Given the description of an element on the screen output the (x, y) to click on. 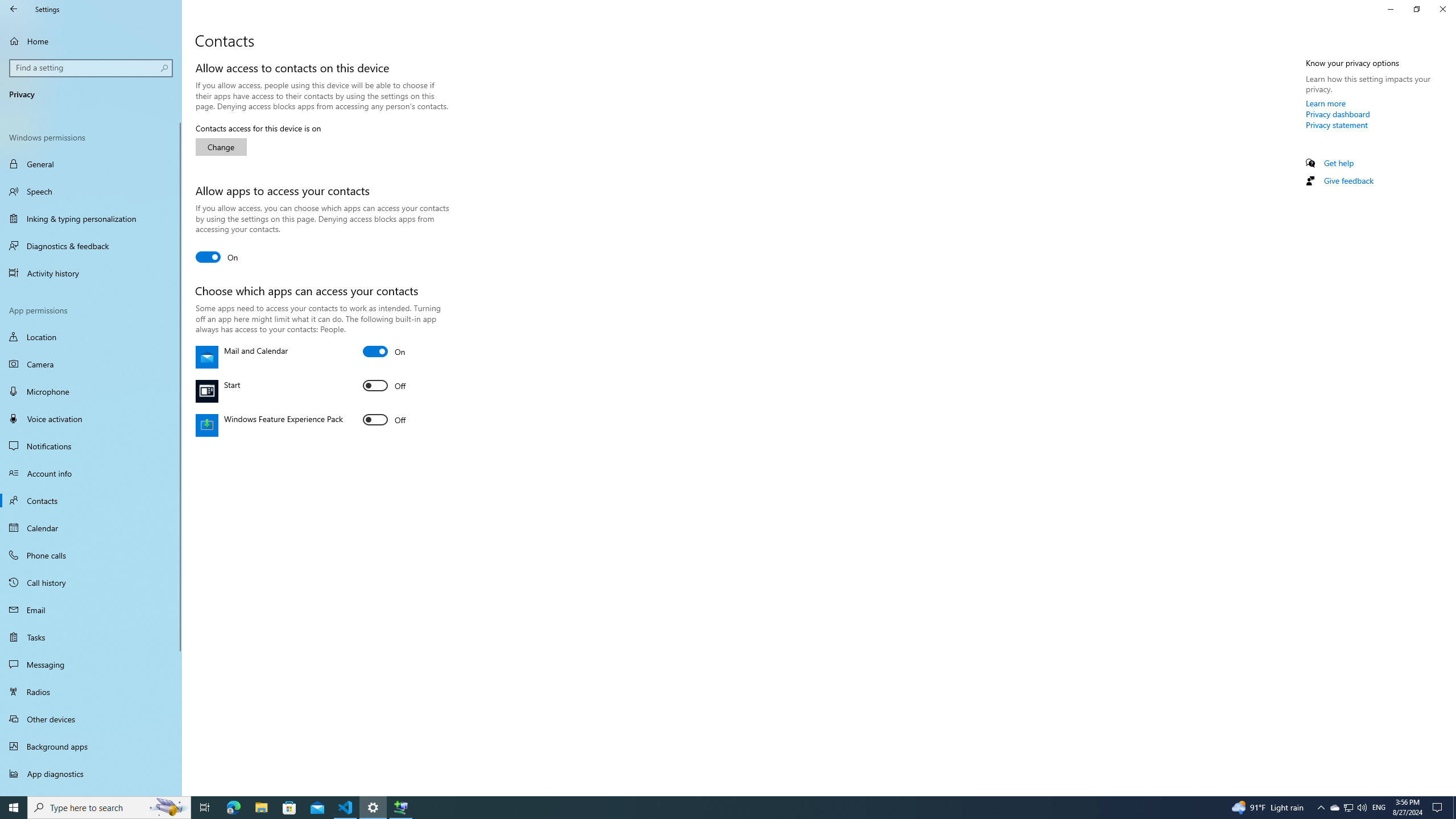
Back (13, 9)
Other devices (91, 718)
Speech (91, 190)
Account info (91, 472)
File Explorer (261, 807)
Visual Studio Code - 1 running window (345, 807)
Camera (1347, 807)
Running applications (91, 363)
Messaging (706, 807)
Learn more (91, 664)
Radios (1326, 102)
Task View (91, 691)
Give feedback (204, 807)
